Given the description of an element on the screen output the (x, y) to click on. 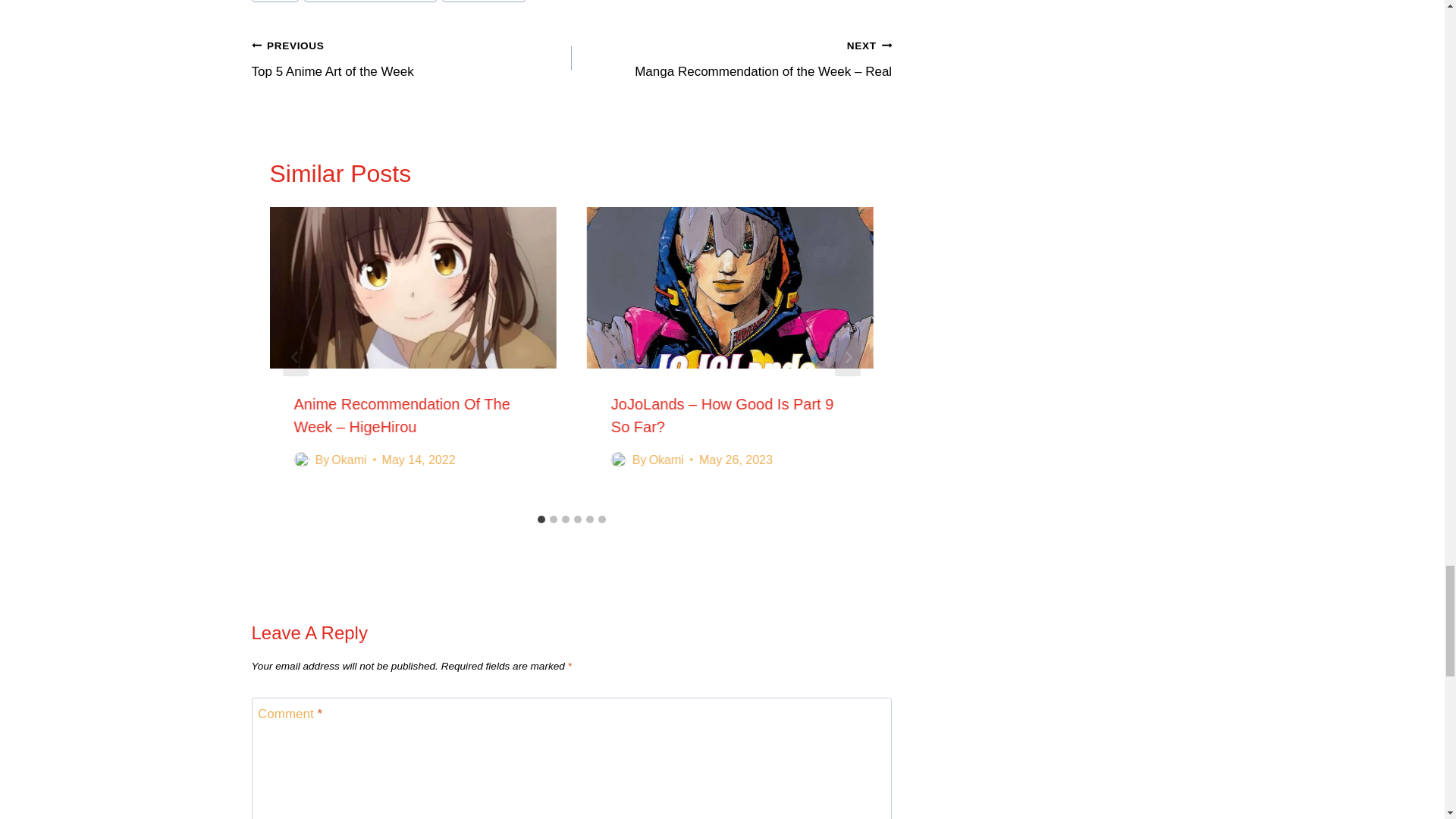
Anime Recommendation (370, 1)
anime (275, 1)
gurren lagann (411, 58)
